Given the description of an element on the screen output the (x, y) to click on. 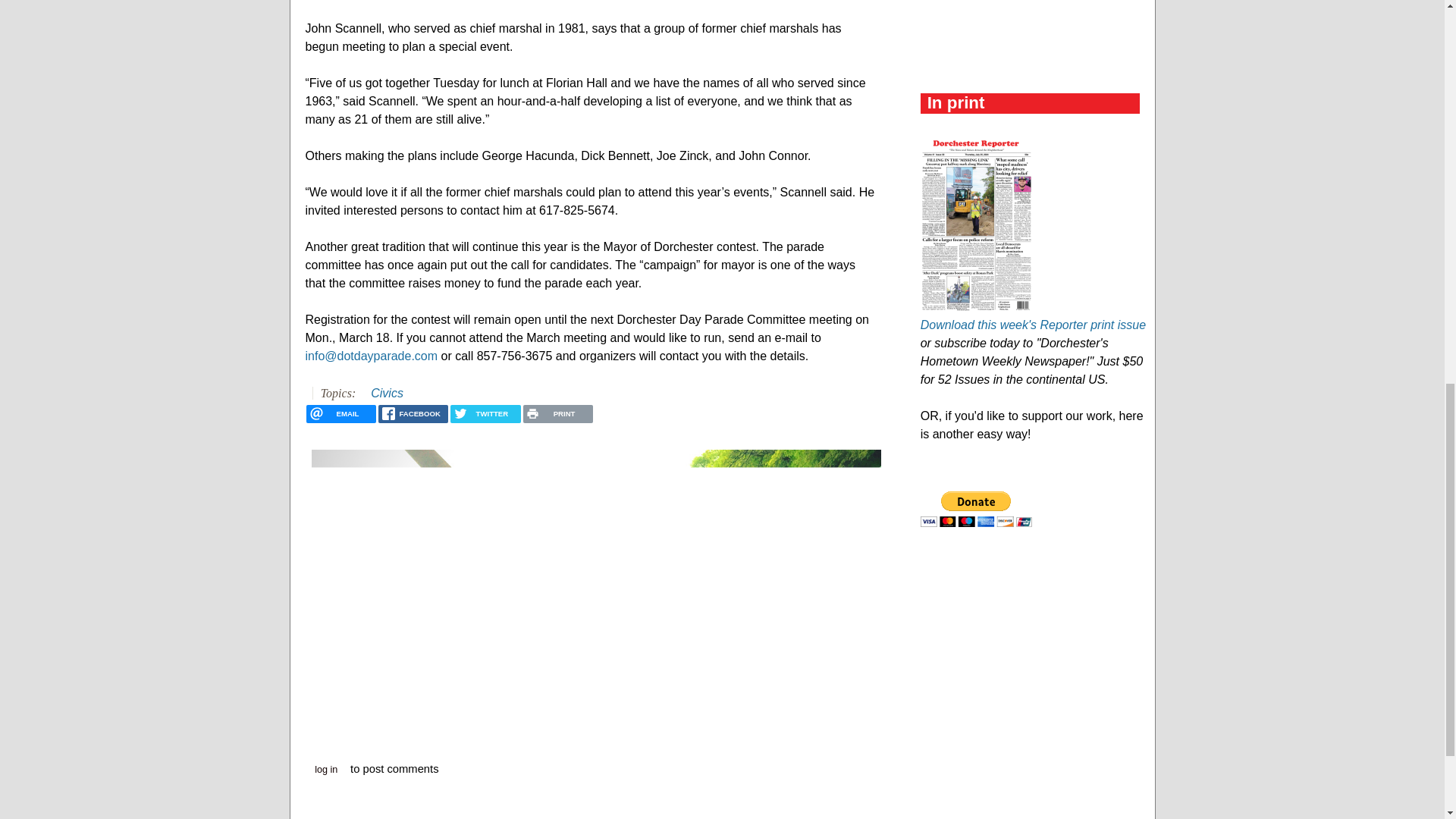
PayPal - The safer, easier way to pay online! (976, 509)
log in (325, 769)
TWITTER (484, 413)
Download this week's Reporter print issue (1032, 324)
Civics (387, 392)
FACEBOOK (413, 413)
EMAIL (340, 413)
PRINT (557, 413)
